Given the description of an element on the screen output the (x, y) to click on. 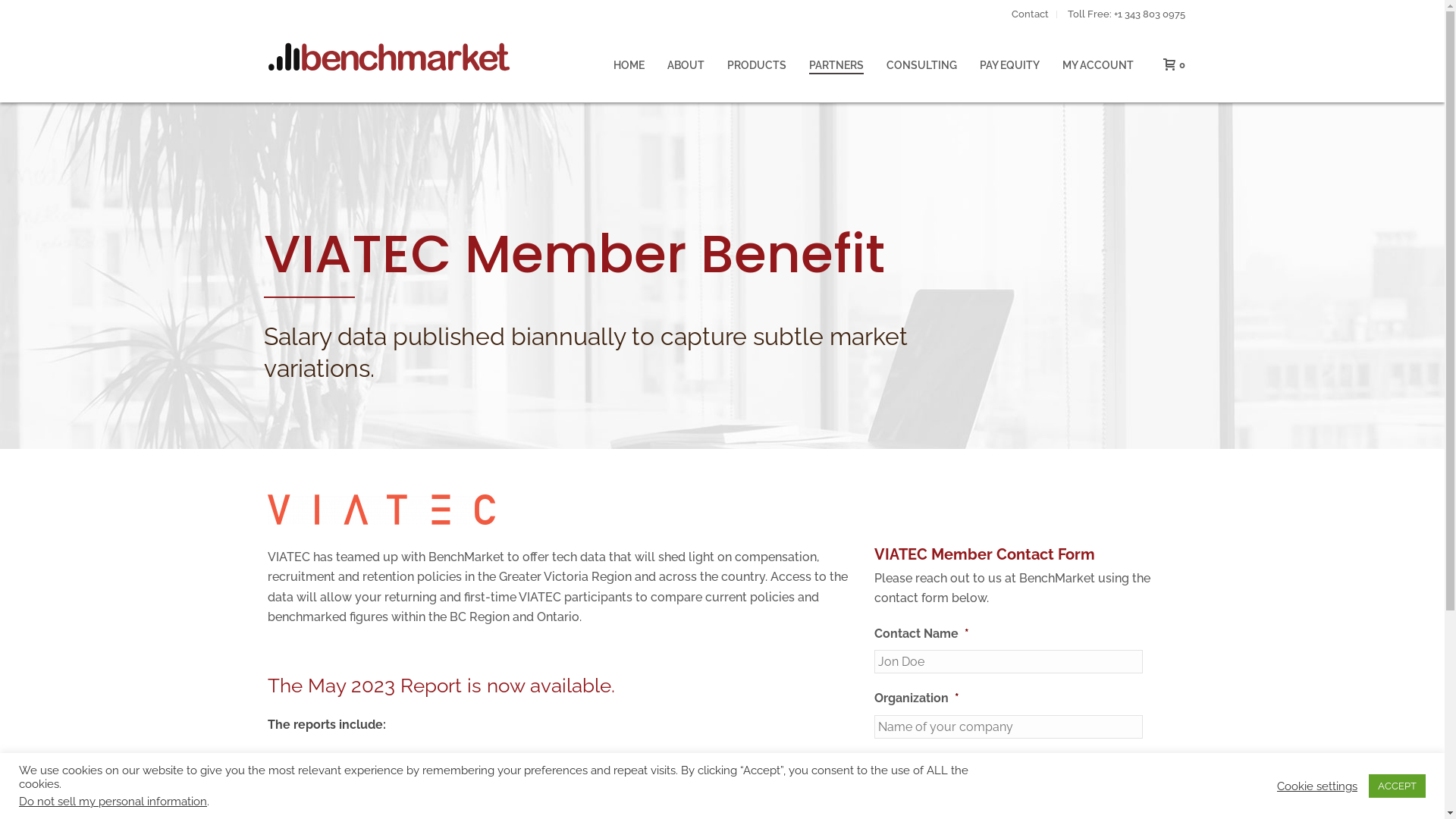
HOME Element type: text (628, 65)
CONSULTING Element type: text (921, 65)
ACCEPT Element type: text (1396, 785)
PAY EQUITY Element type: text (1008, 65)
Cookie settings Element type: text (1317, 786)
Contact Element type: text (1030, 14)
Do not sell my personal information Element type: text (112, 800)
MY ACCOUNT Element type: text (1098, 65)
ABOUT Element type: text (685, 65)
PARTNERS Element type: text (836, 65)
PRODUCTS Element type: text (756, 65)
Where salaries make sense! Element type: hover (387, 55)
0 Element type: text (1170, 63)
viatec-wordmark-1 Element type: hover (380, 509)
